Given the description of an element on the screen output the (x, y) to click on. 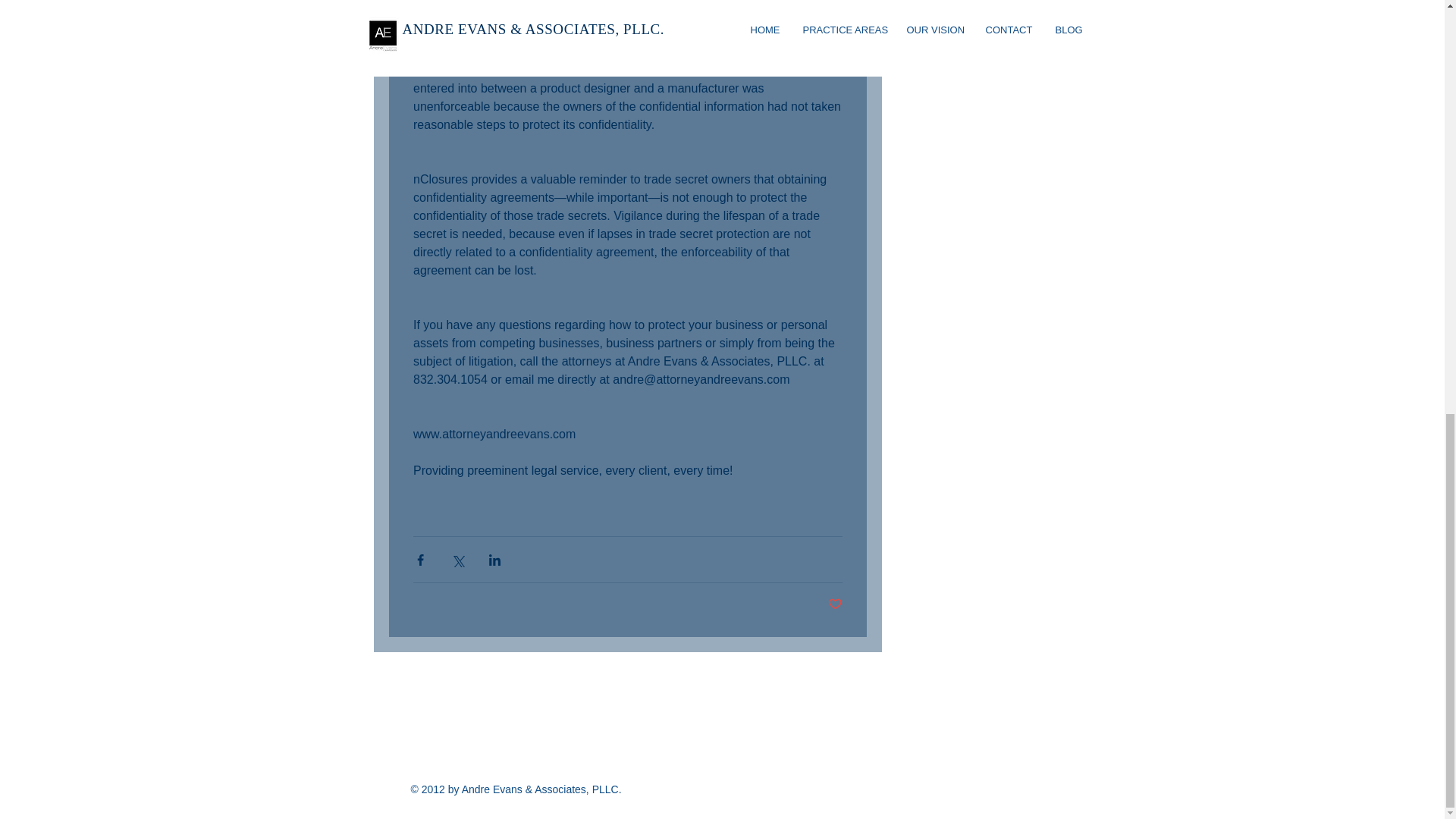
Post not marked as liked (835, 604)
